Given the description of an element on the screen output the (x, y) to click on. 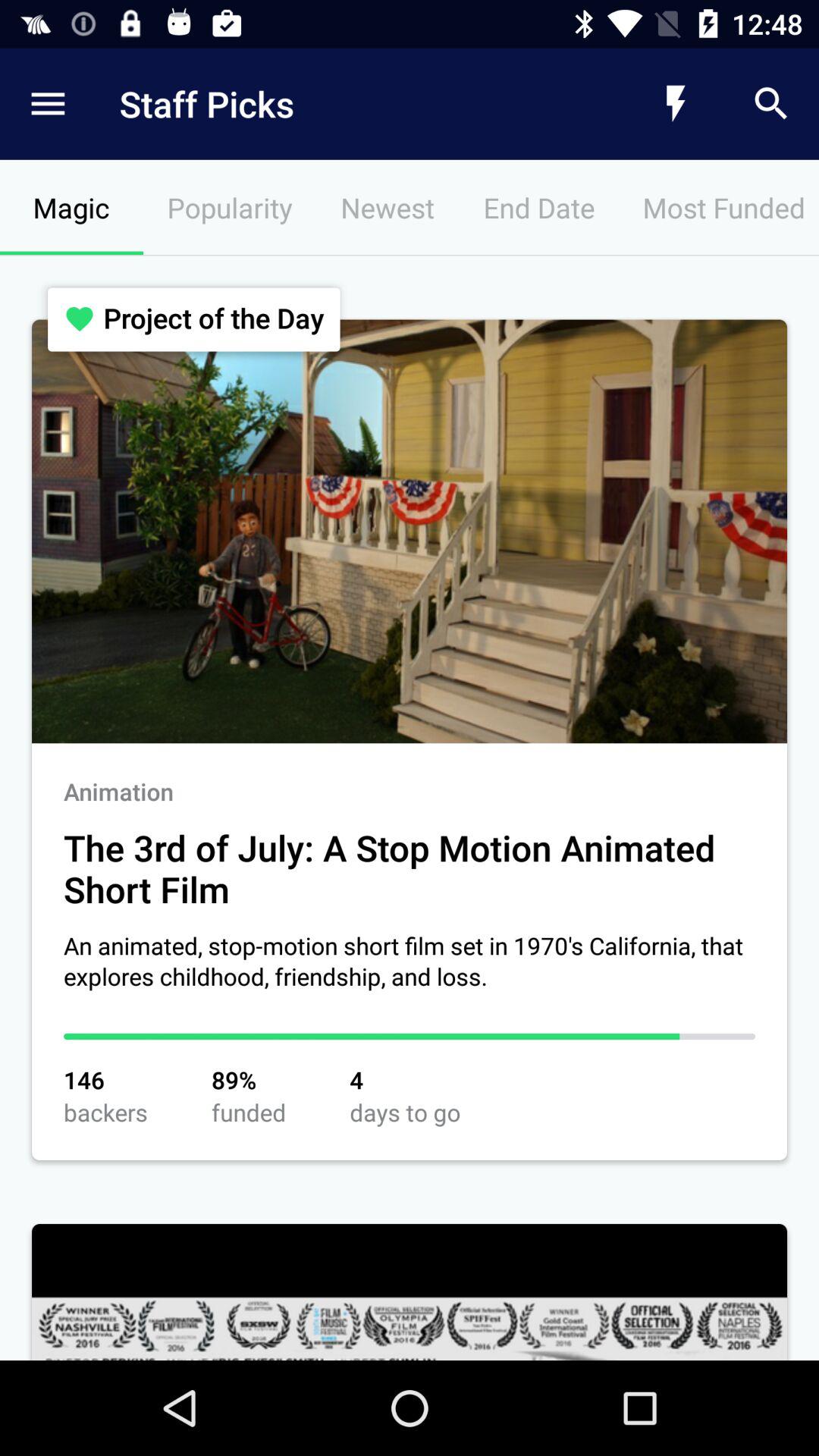
scroll until the staff picks icon (345, 103)
